Given the description of an element on the screen output the (x, y) to click on. 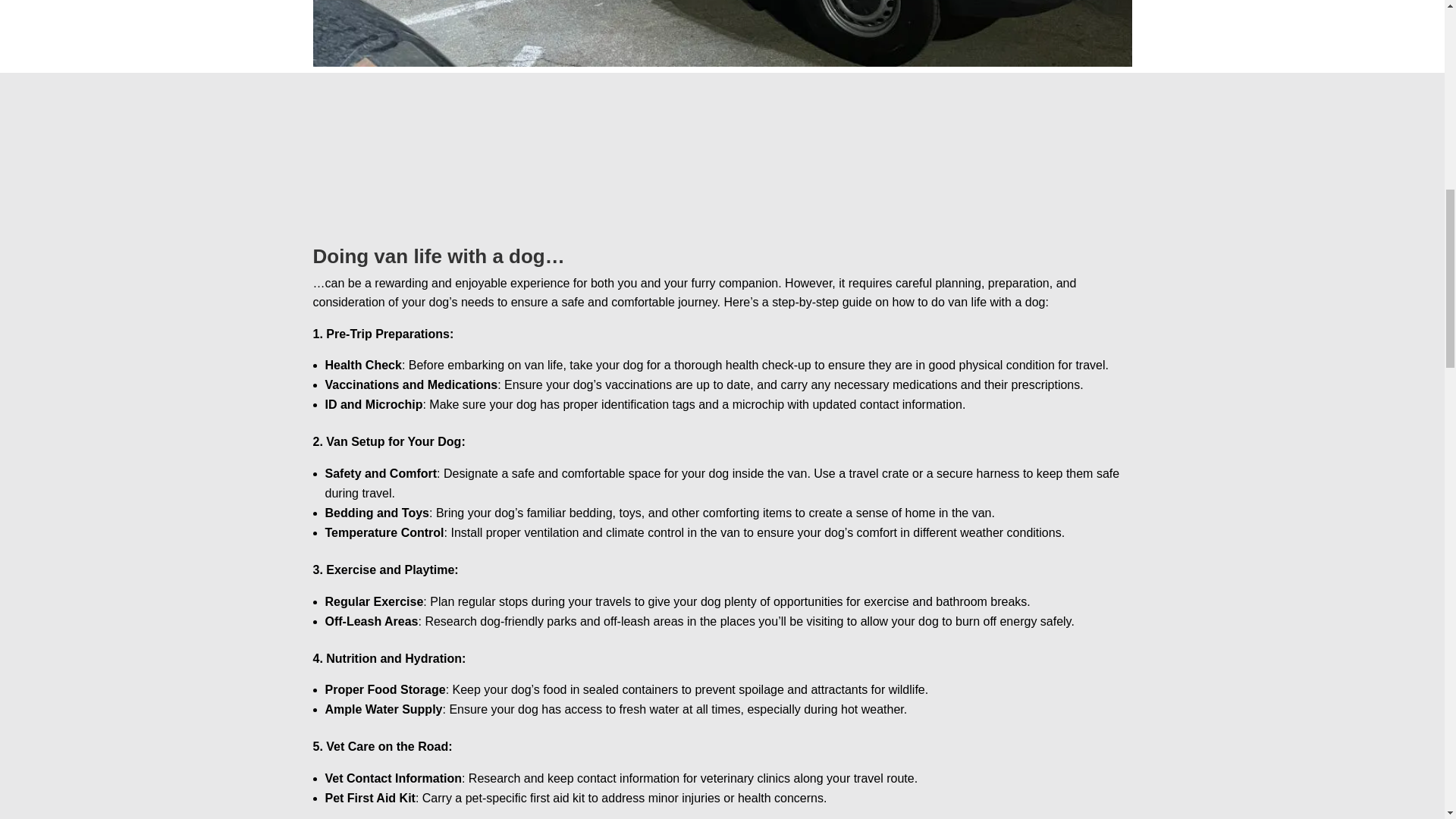
FareHarbor (1342, 64)
